Given the description of an element on the screen output the (x, y) to click on. 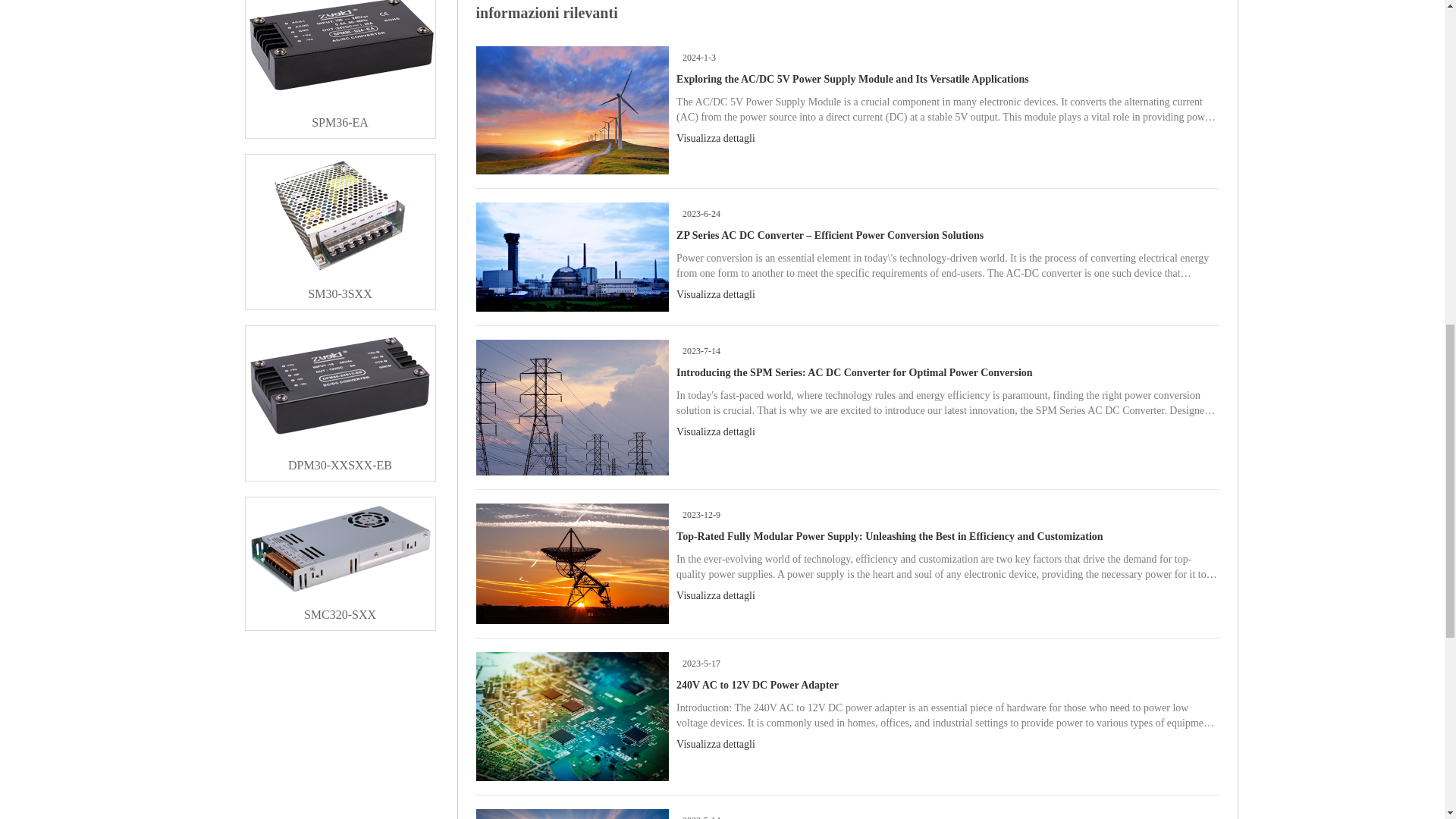
SM30-3SXX (340, 288)
SMC320-SXX (340, 608)
DPM30-XXSXX-EB (340, 459)
SPM36-EA (340, 117)
SPM36-EA (340, 117)
SM30-3SXX (340, 288)
DPM30-XXSXX-EB (340, 459)
